Given the description of an element on the screen output the (x, y) to click on. 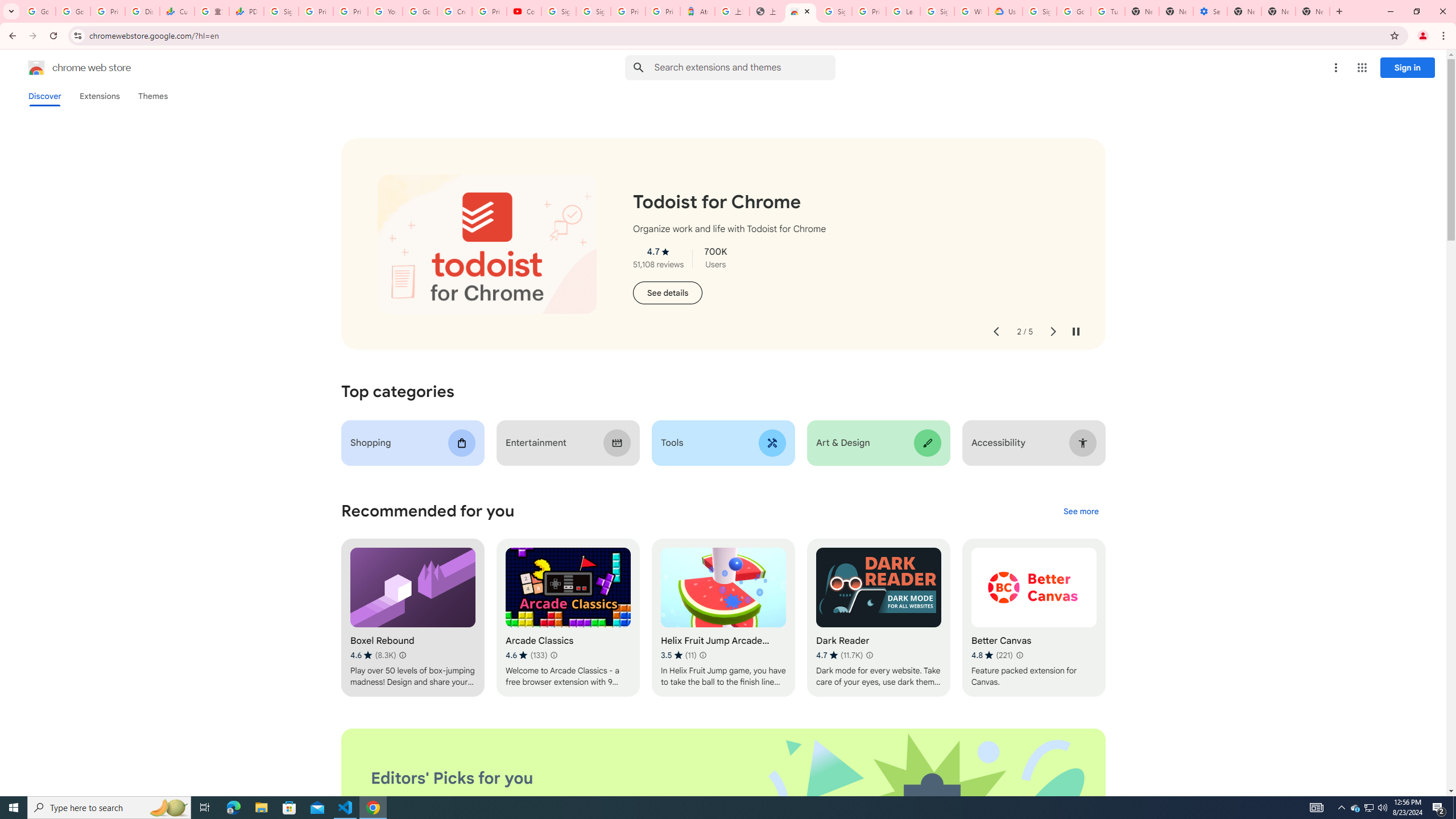
Themes (152, 95)
See more personalized recommendations (1080, 511)
Privacy Checkup (349, 11)
Google Account Help (1073, 11)
Boxel Rebound (412, 617)
Content Creator Programs & Opportunities - YouTube Creators (524, 11)
Sign in - Google Accounts (1039, 11)
